Given the description of an element on the screen output the (x, y) to click on. 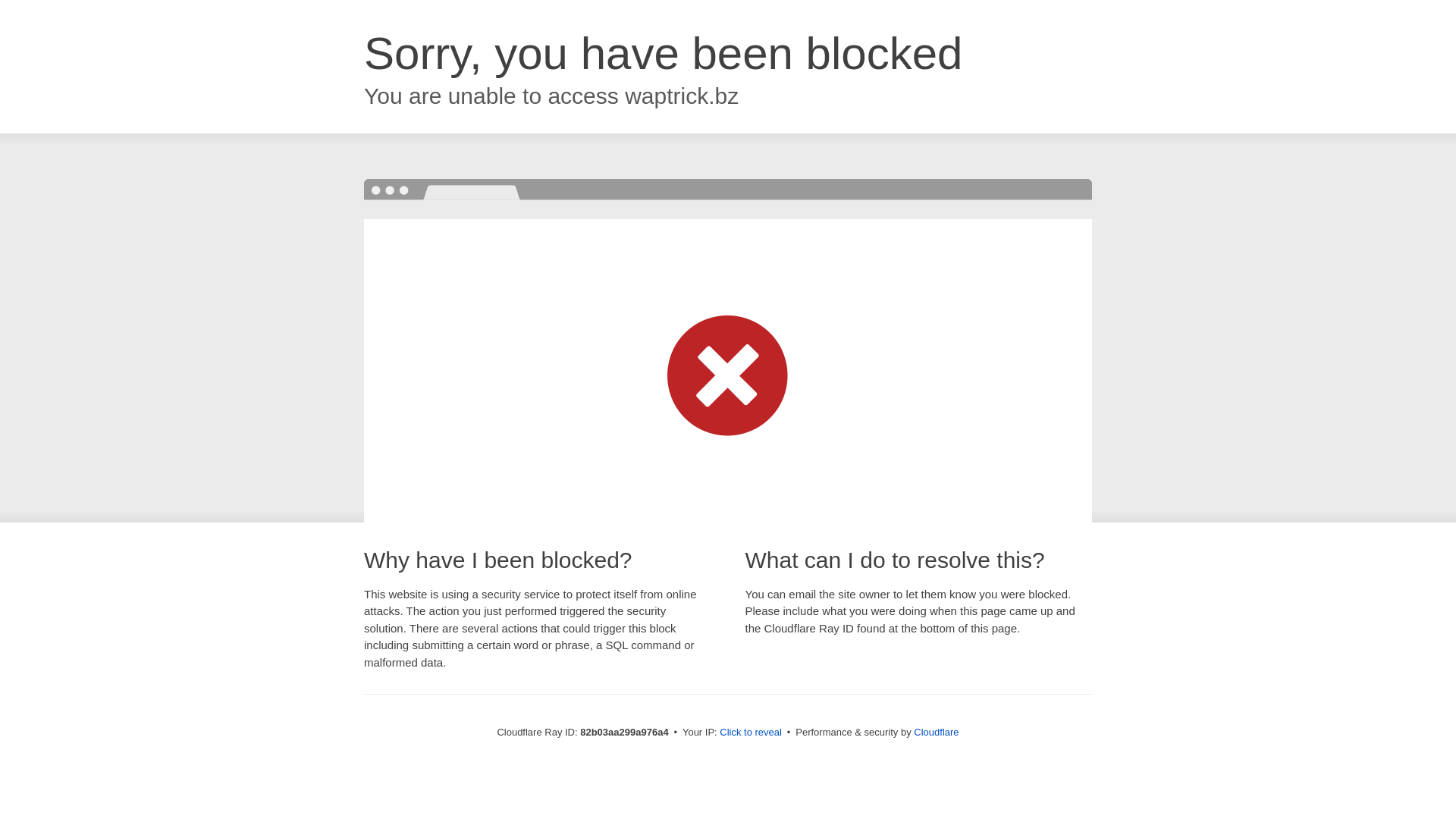
Cloudflare Element type: text (935, 731)
Click to reveal Element type: text (750, 732)
